Given the description of an element on the screen output the (x, y) to click on. 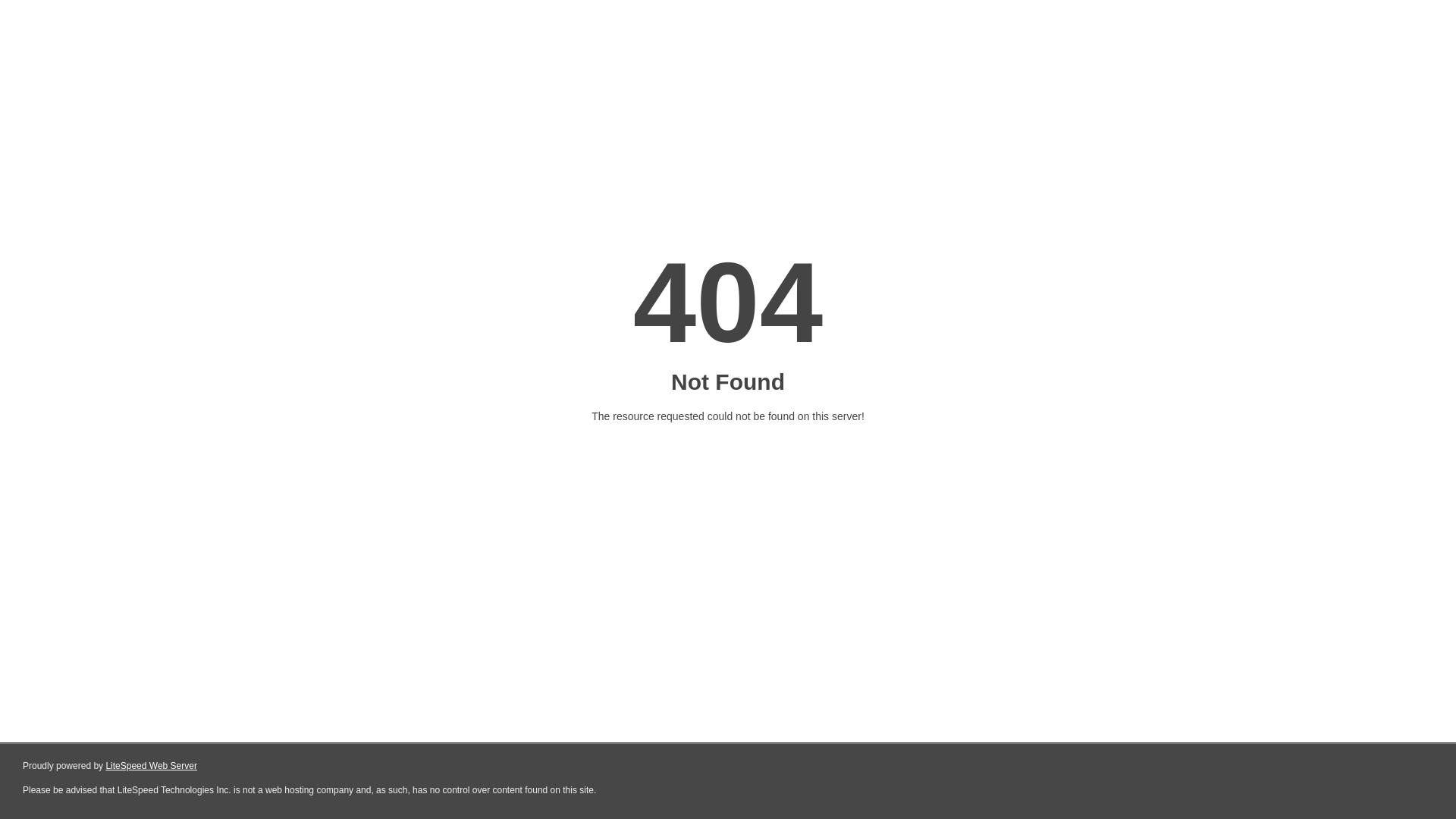
LiteSpeed Web Server Element type: text (151, 765)
